Given the description of an element on the screen output the (x, y) to click on. 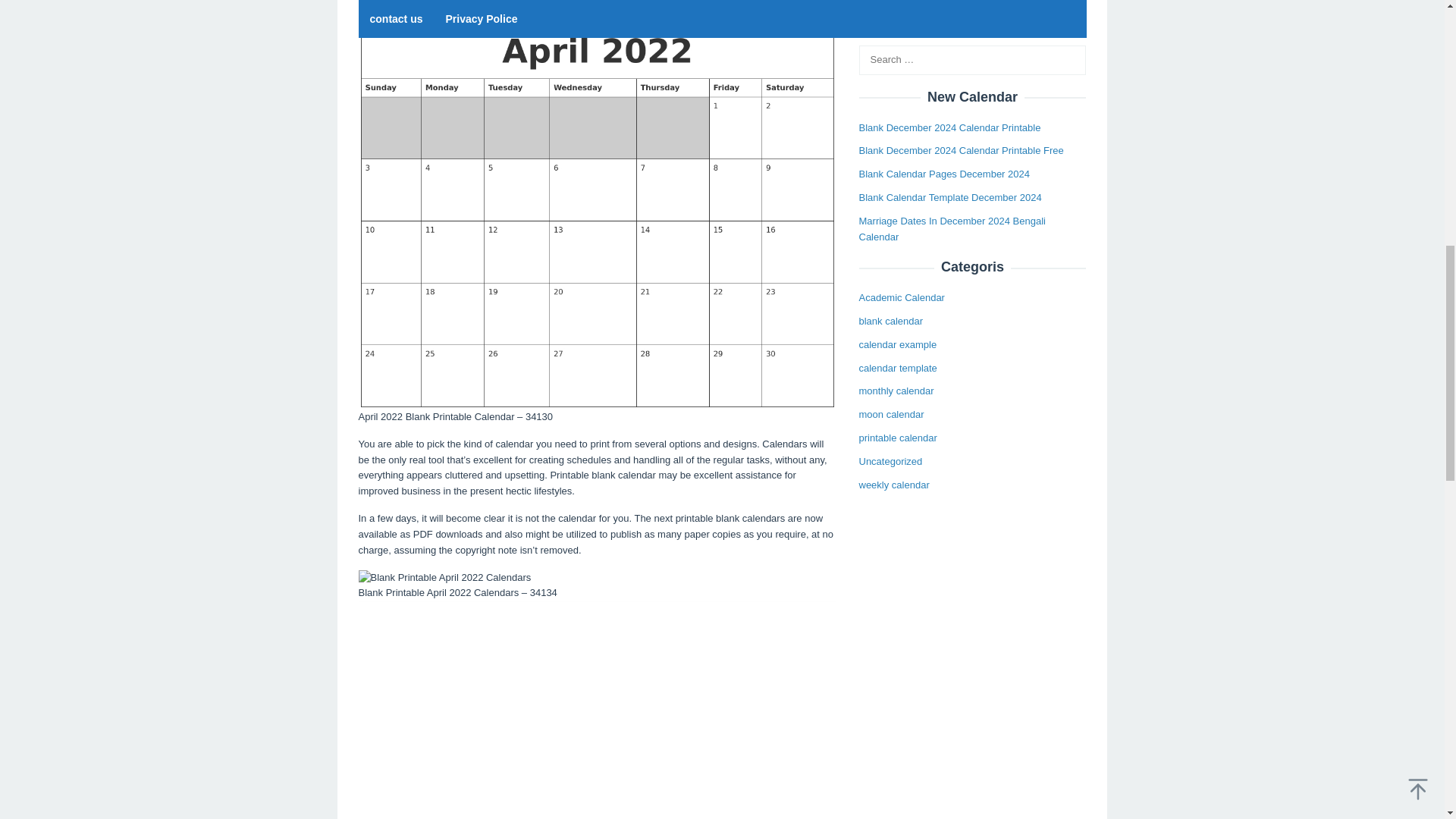
Blank Printable April 2022 Calendars (444, 578)
April 2022 Calendar - Pdf Word Excel (596, 710)
